Given the description of an element on the screen output the (x, y) to click on. 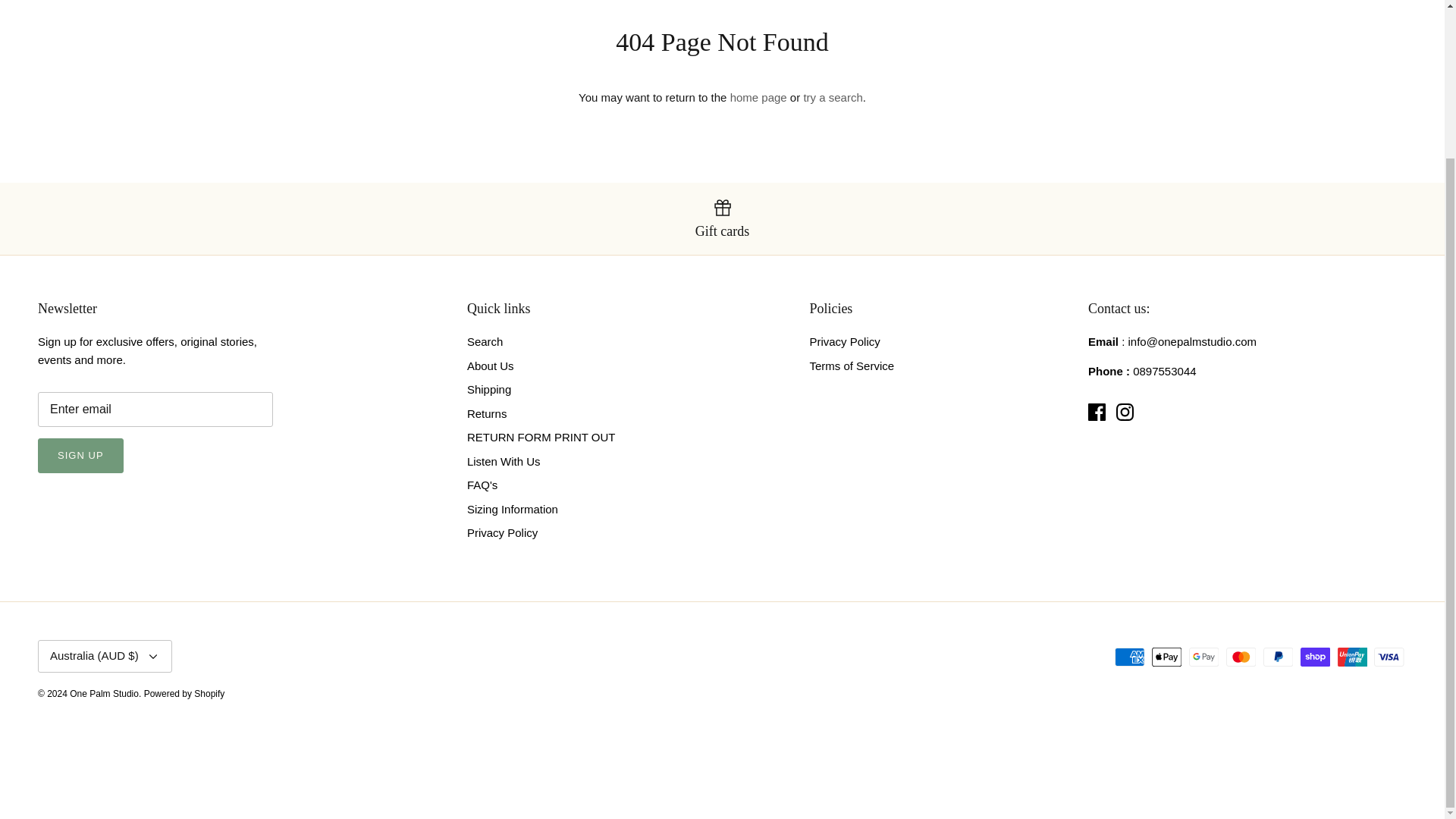
Facebook (1096, 411)
Mastercard (1240, 656)
Shop Pay (1315, 656)
PayPal (1277, 656)
Google Pay (1203, 656)
Apple Pay (1166, 656)
Instagram (1125, 411)
Down (153, 656)
Visa (1388, 656)
American Express (1129, 656)
